Given the description of an element on the screen output the (x, y) to click on. 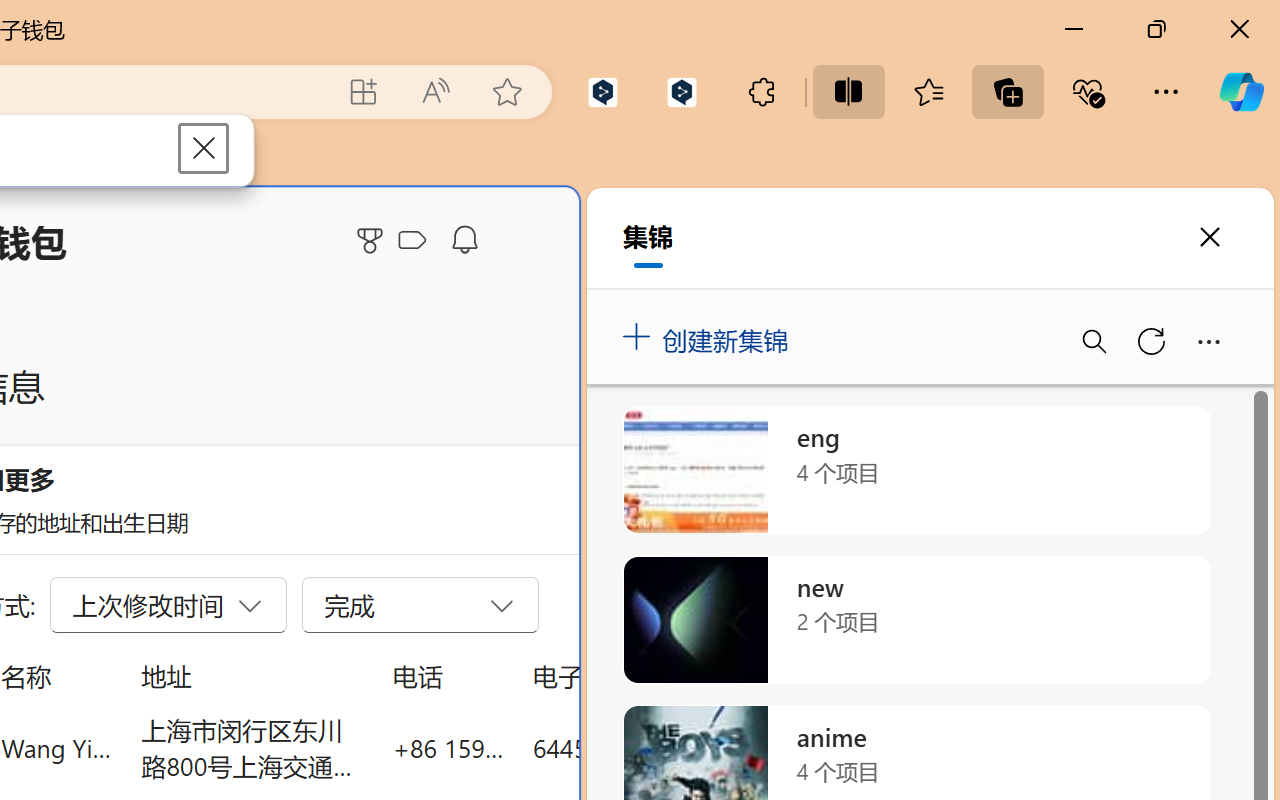
Microsoft Rewards (373, 240)
Class: ___1lmltc5 f1agt3bx f12qytpq (411, 241)
644553698@qq.com (644, 747)
